Given the description of an element on the screen output the (x, y) to click on. 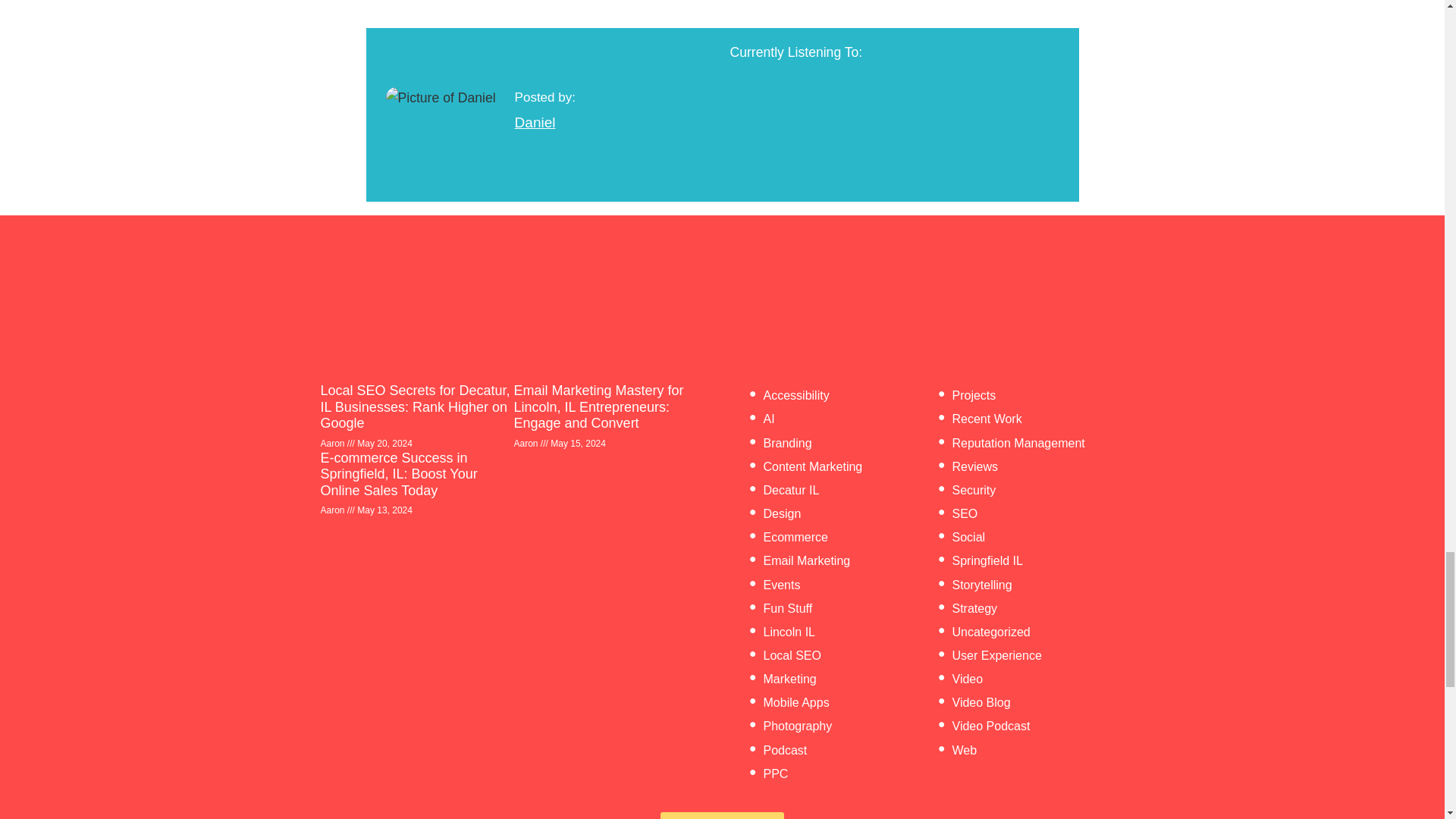
Local SEO (791, 655)
Photography (796, 725)
Marketing (788, 678)
Mobile Apps (795, 702)
Spotify Embed: F it Up - Live Sesh (893, 123)
Events (780, 584)
Ecommerce (794, 536)
Email Marketing (806, 560)
Fun Stuff (787, 608)
Lincoln IL (788, 631)
Content Marketing (811, 466)
Branding (786, 442)
Decatur IL (790, 490)
